Given the description of an element on the screen output the (x, y) to click on. 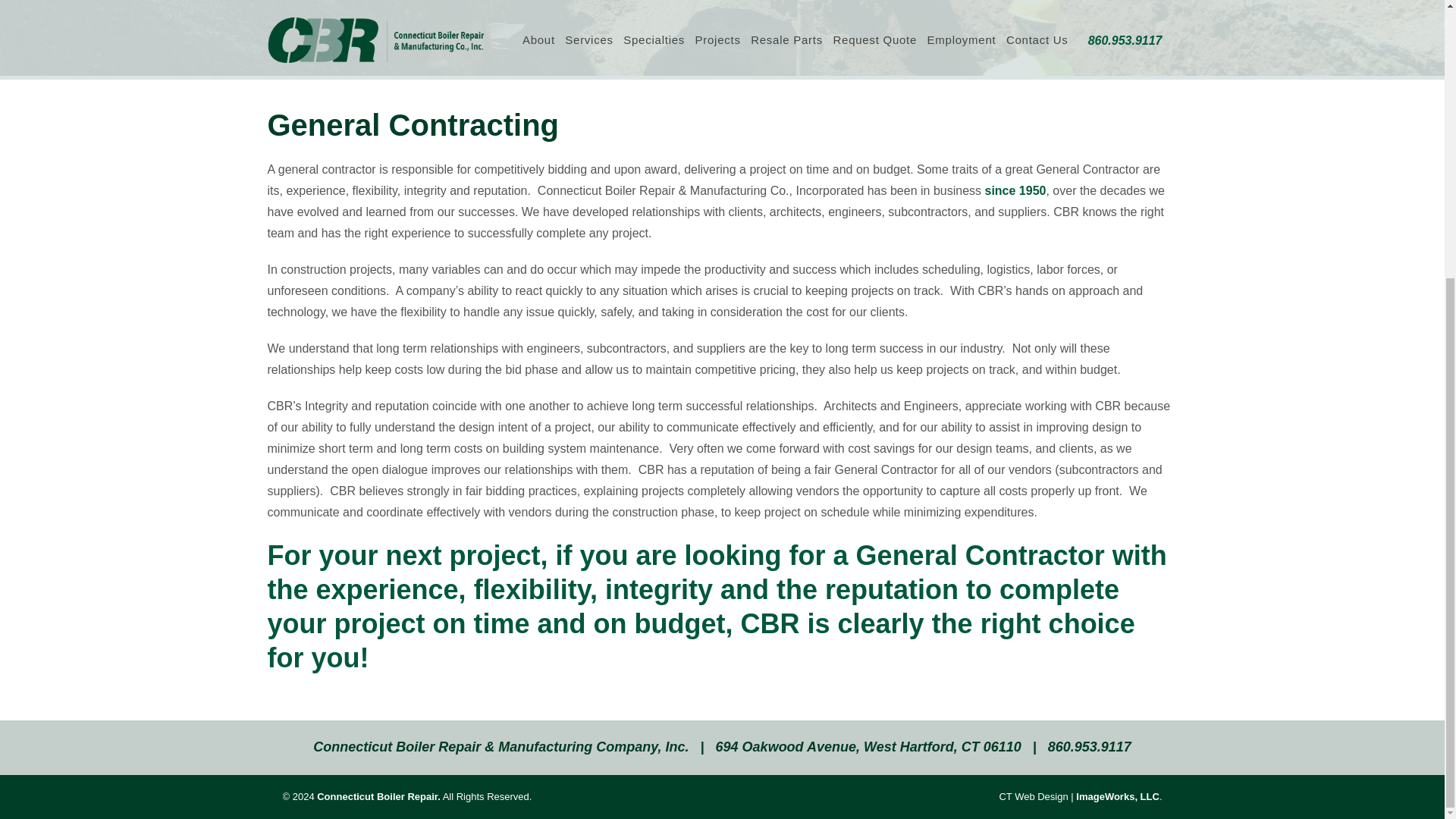
ImageWorks, LLC (1116, 796)
since 1950 (1014, 190)
